Given the description of an element on the screen output the (x, y) to click on. 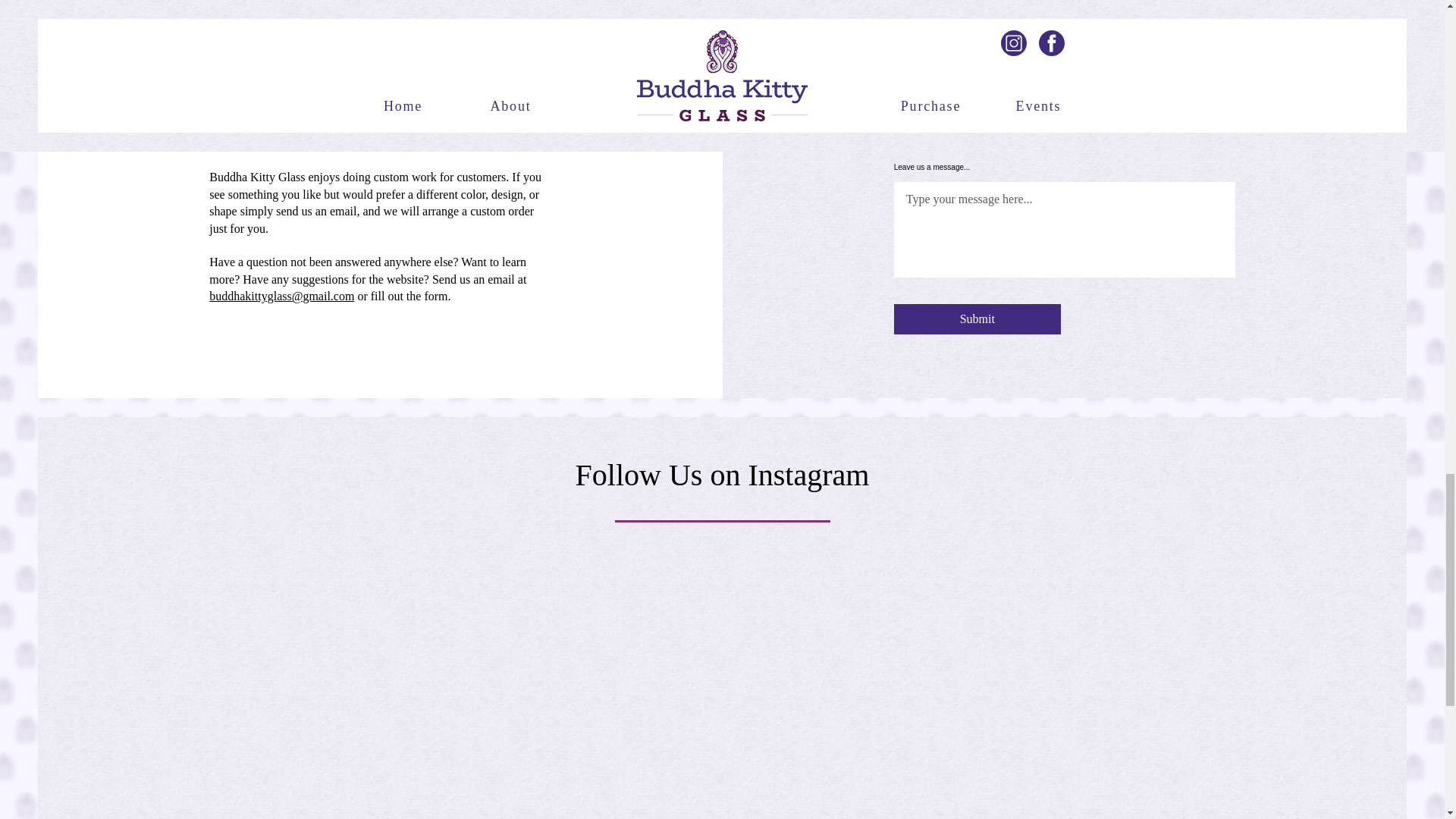
Submit (977, 318)
